Given the description of an element on the screen output the (x, y) to click on. 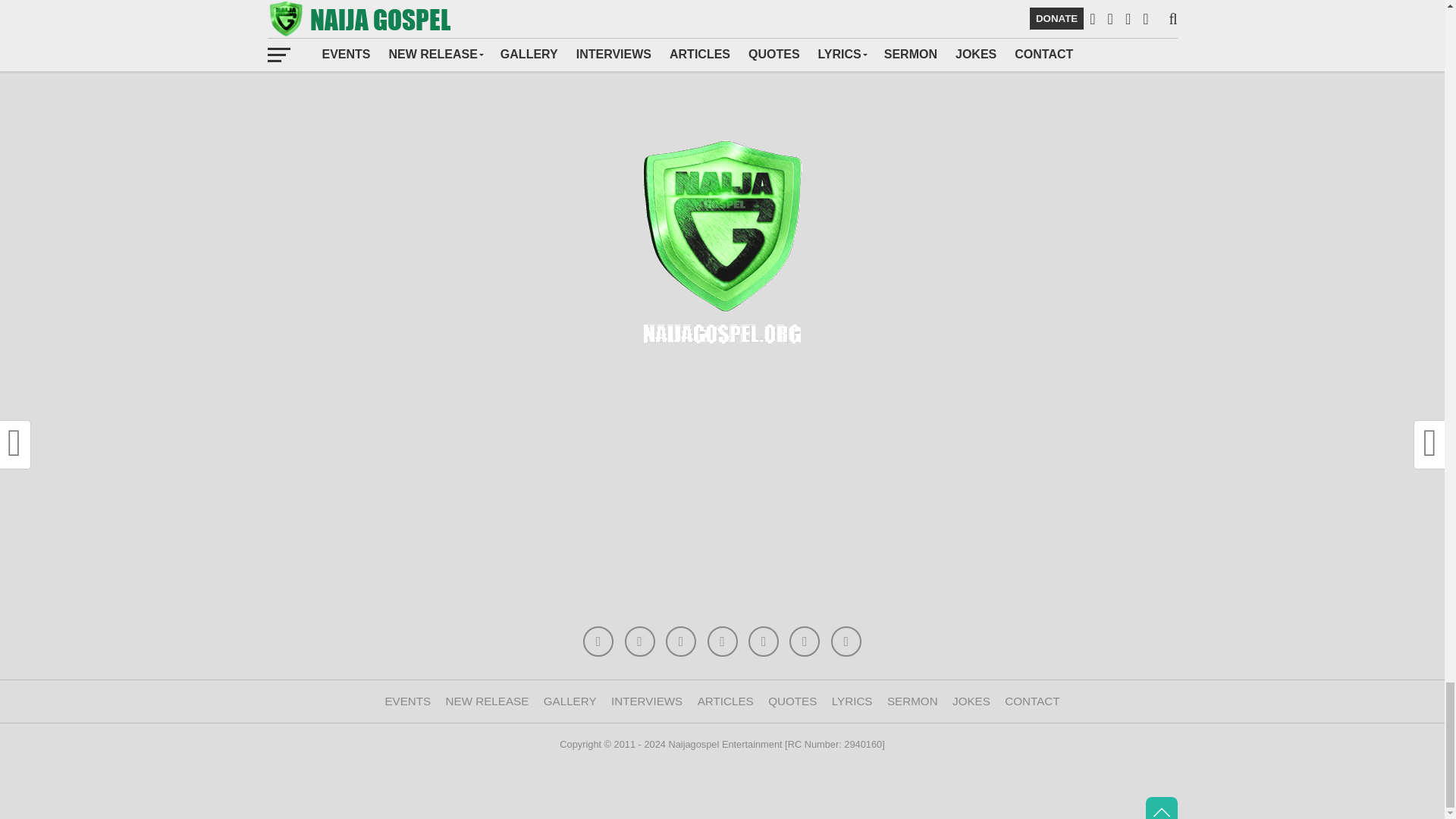
Pictures speaks (569, 700)
One on one (646, 700)
Latest Download (487, 700)
